Given the description of an element on the screen output the (x, y) to click on. 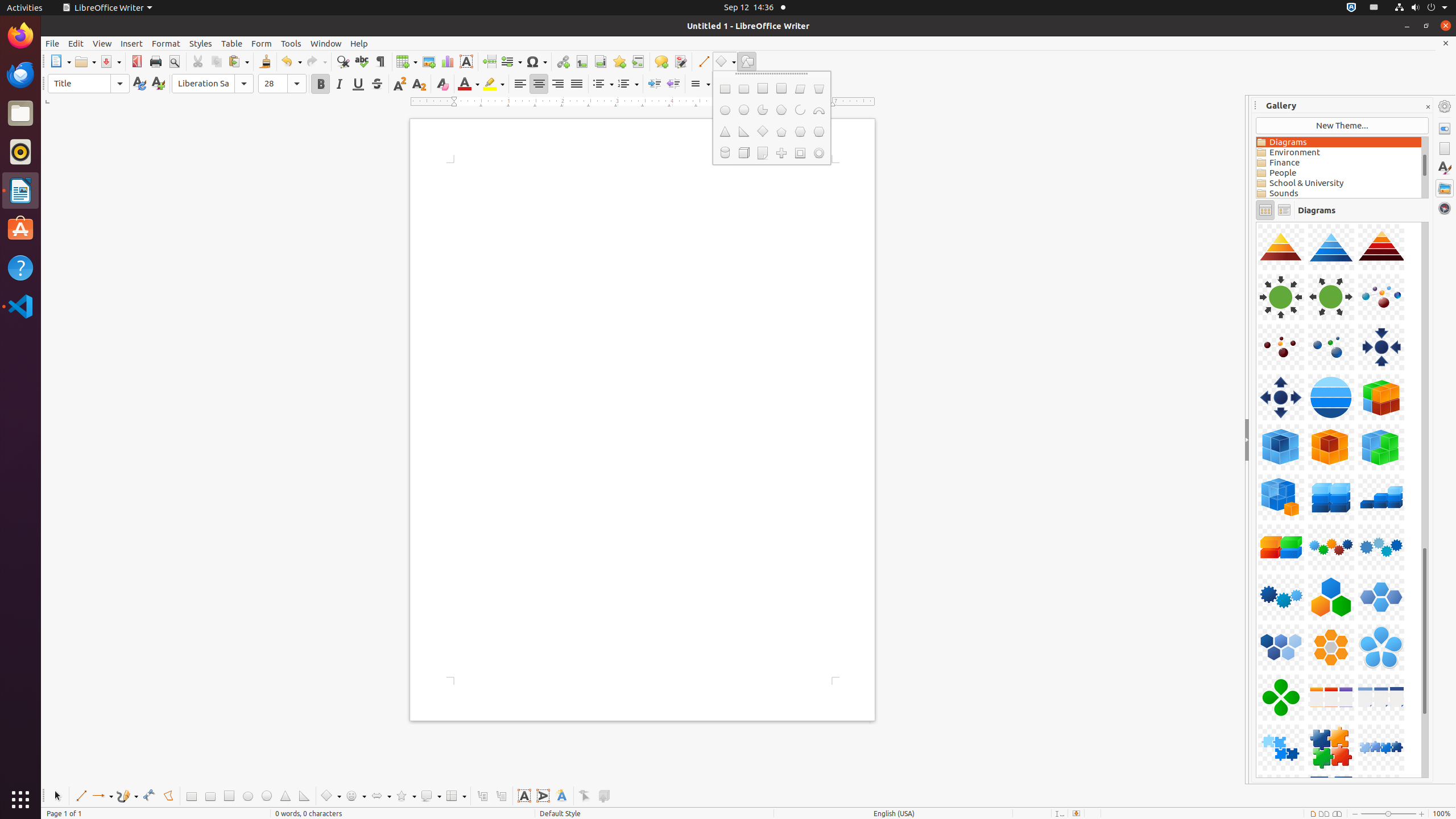
Component-PuzzlePiece05-Orange Element type: list-item (1256, 222)
Ellipse Element type: toggle-button (724, 110)
Circle Pie Element type: toggle-button (762, 110)
Open Element type: push-button (84, 61)
Polygon Element type: push-button (167, 795)
